Given the description of an element on the screen output the (x, y) to click on. 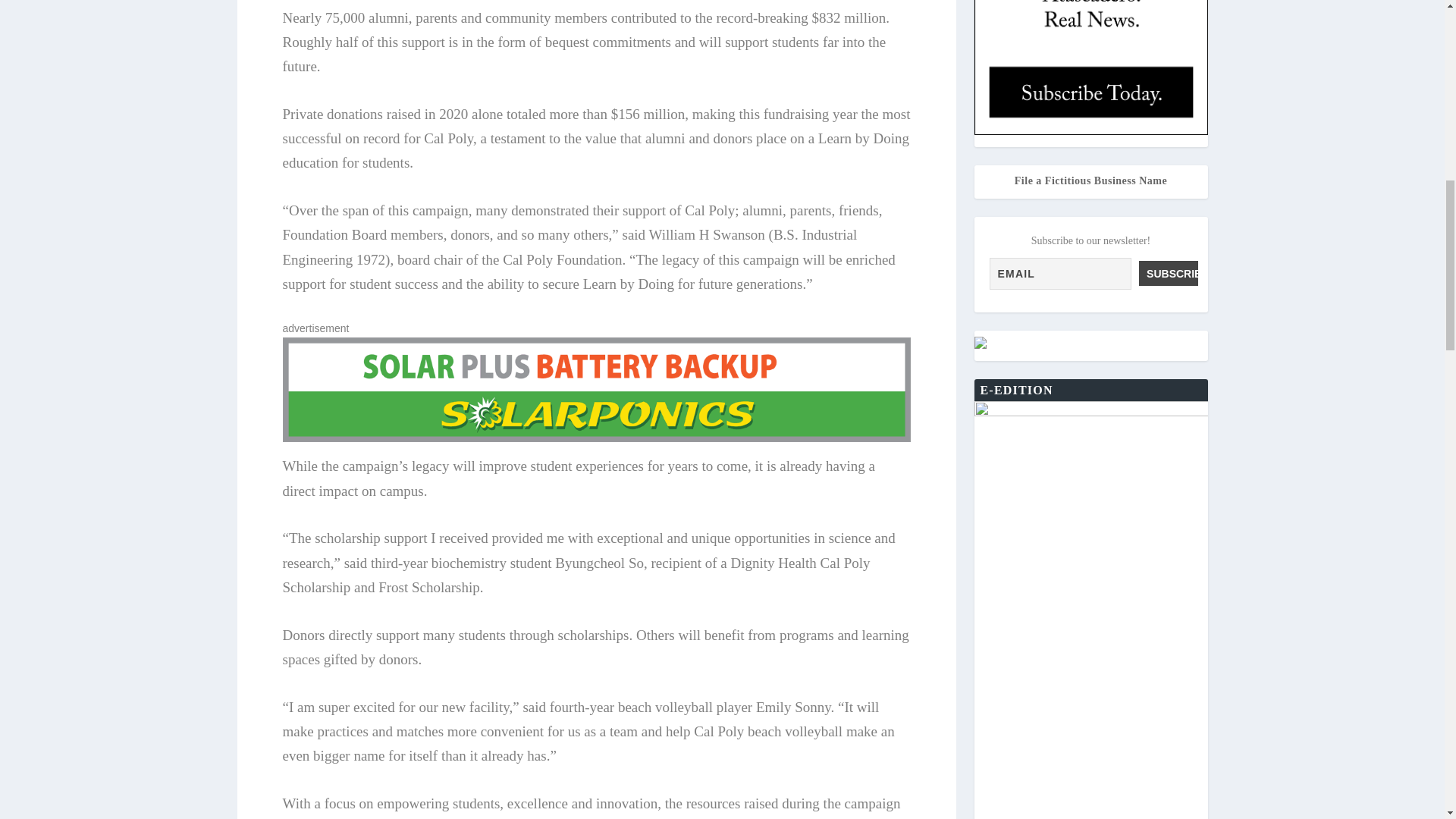
Subscribe (1168, 273)
